Given the description of an element on the screen output the (x, y) to click on. 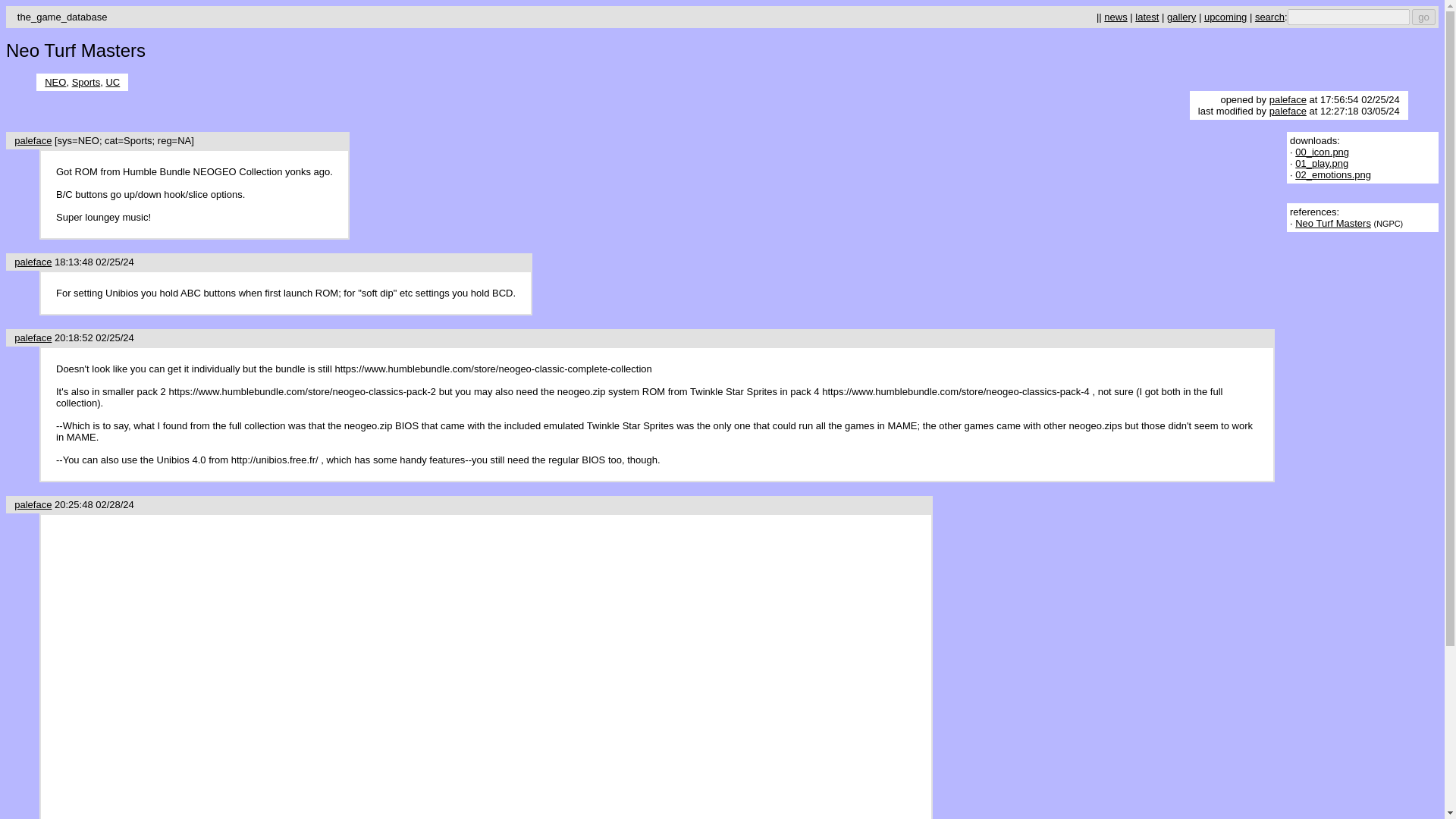
paleface (1287, 99)
upcoming (1225, 16)
news (1114, 16)
Sports (85, 81)
gallery (1181, 16)
paleface (32, 504)
paleface (32, 337)
NEO (55, 81)
latest (1146, 16)
UC (111, 81)
search (1269, 16)
paleface (32, 261)
paleface (32, 140)
Neo Turf Masters (1333, 223)
